Given the description of an element on the screen output the (x, y) to click on. 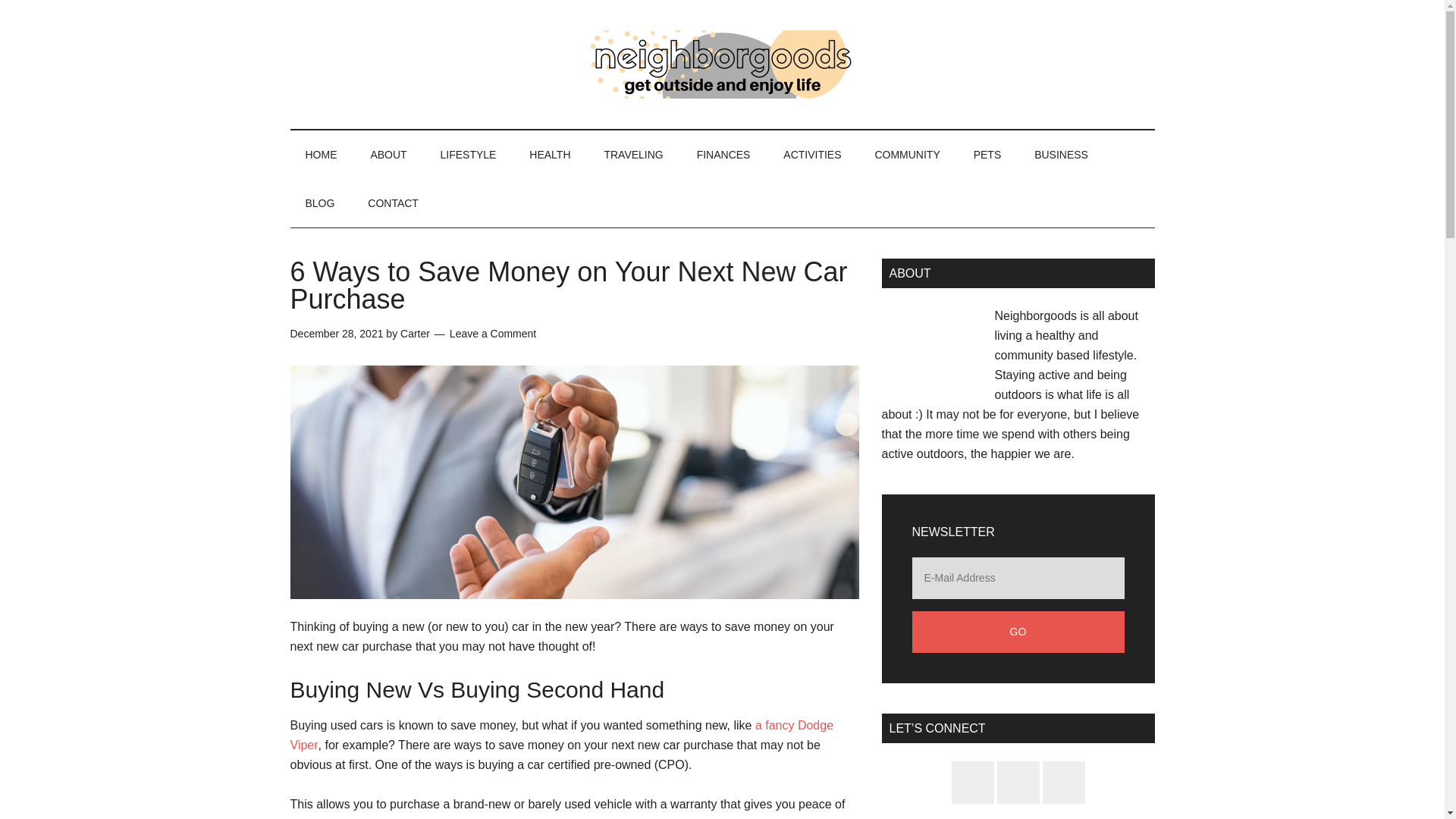
a fancy Dodge Viper (560, 735)
Neighborgoods (721, 64)
BLOG (319, 203)
BUSINESS (1061, 154)
LIFESTYLE (468, 154)
Carter (414, 333)
HEALTH (549, 154)
FINANCES (723, 154)
HOME (320, 154)
Go (1017, 631)
